Given the description of an element on the screen output the (x, y) to click on. 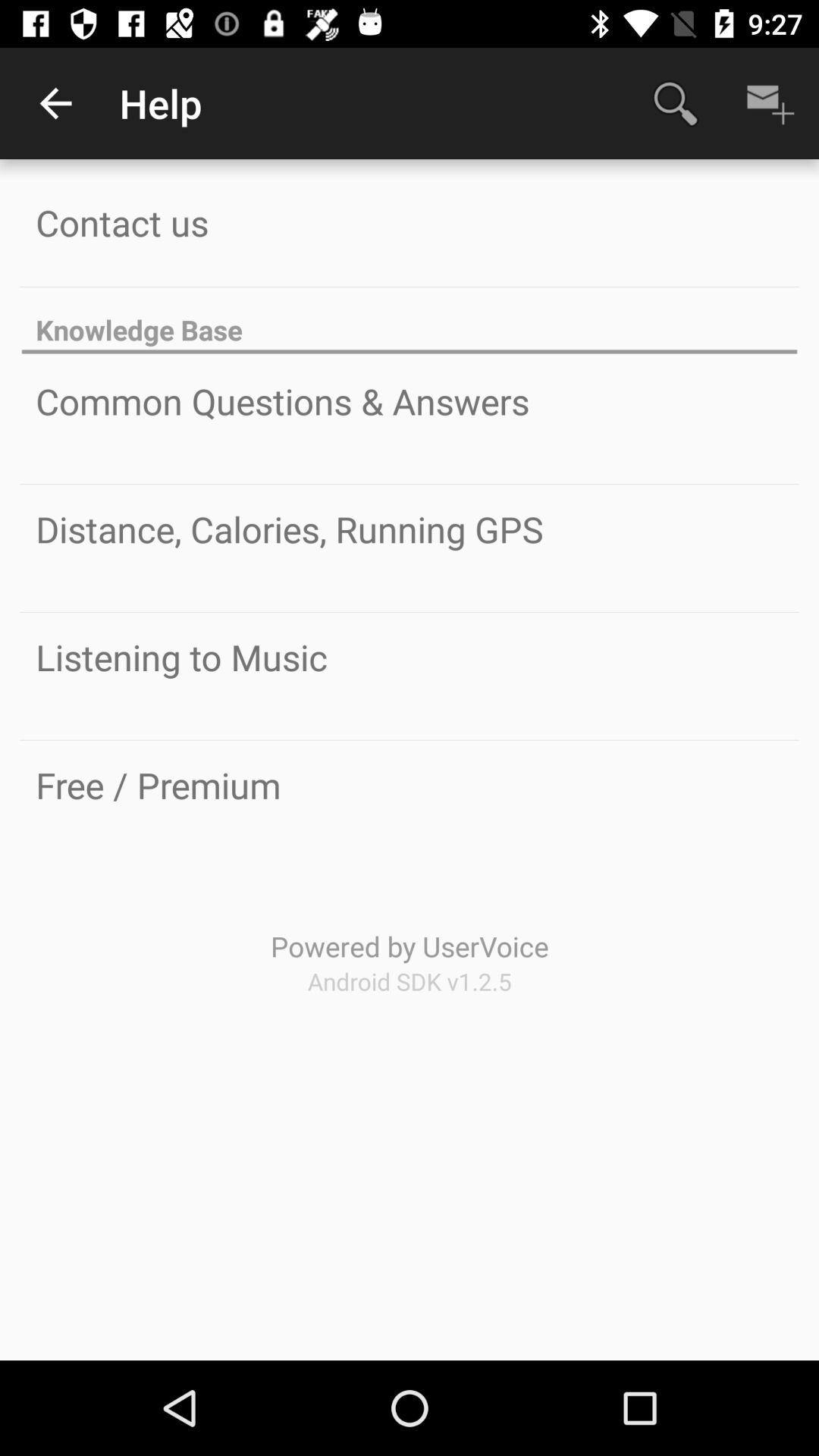
turn on the item above the powered by uservoice item (157, 784)
